Given the description of an element on the screen output the (x, y) to click on. 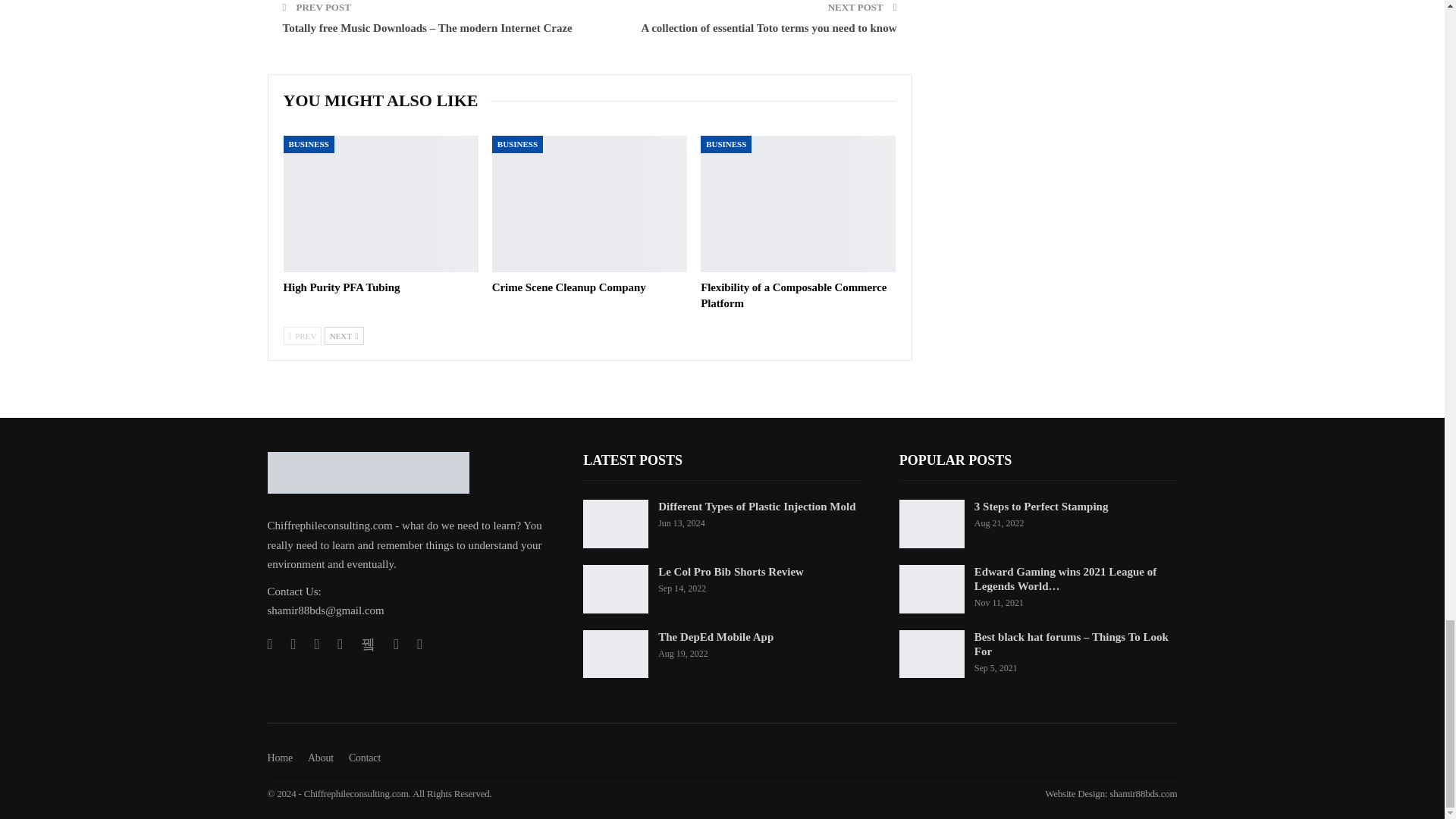
Crime Scene Cleanup Company (569, 287)
Previous (302, 335)
Flexibility of a Composable Commerce Platform (793, 295)
High Purity PFA Tubing (341, 287)
High Purity PFA Tubing (381, 203)
Next (344, 335)
Flexibility of a Composable Commerce Platform (797, 203)
Crime Scene Cleanup Company (589, 203)
